Given the description of an element on the screen output the (x, y) to click on. 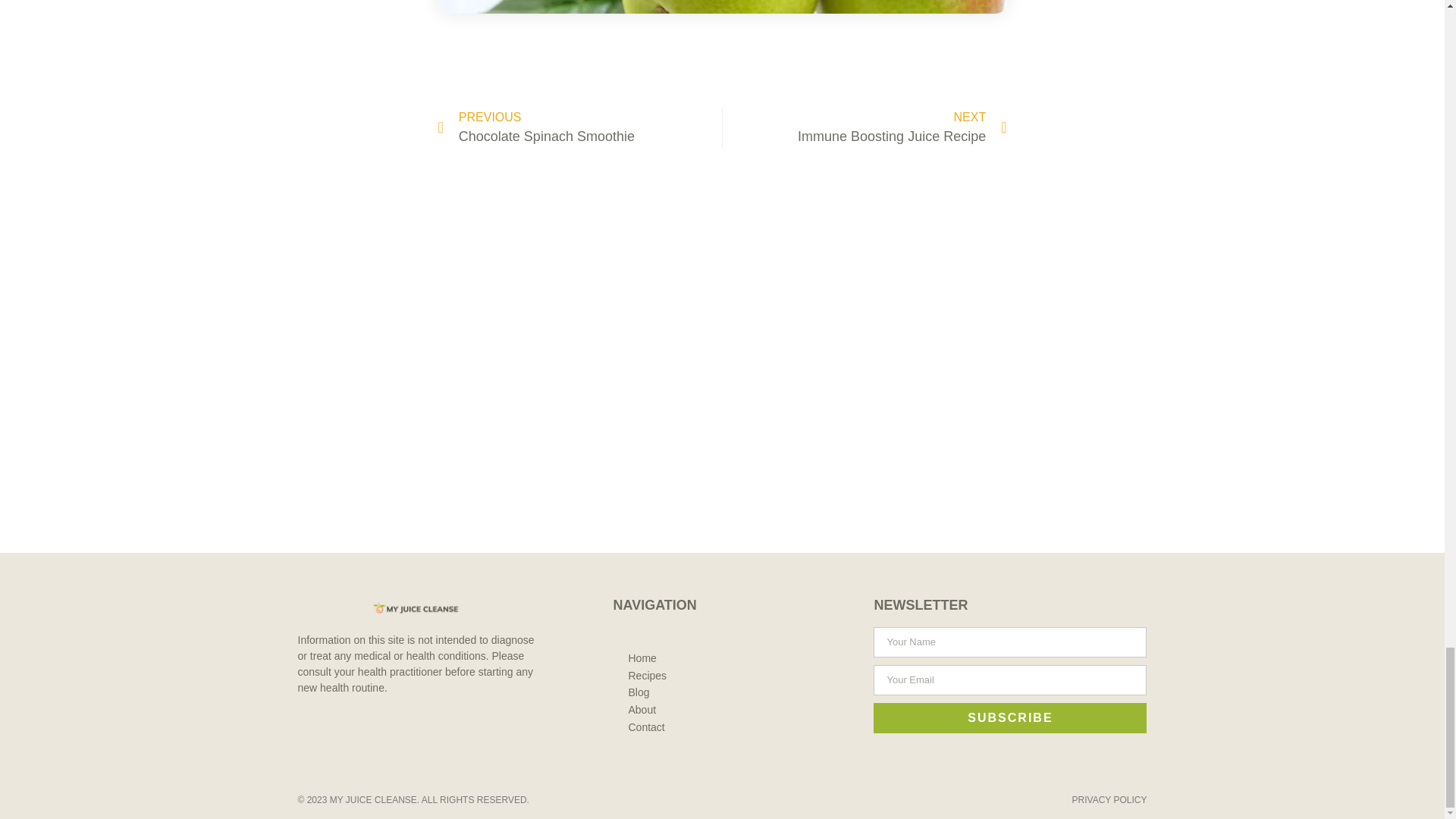
PRIVACY POLICY (580, 127)
SUBSCRIBE (1109, 799)
Home (1010, 717)
Recipes (641, 658)
Contact (646, 675)
About (645, 727)
Blog (641, 710)
